Given the description of an element on the screen output the (x, y) to click on. 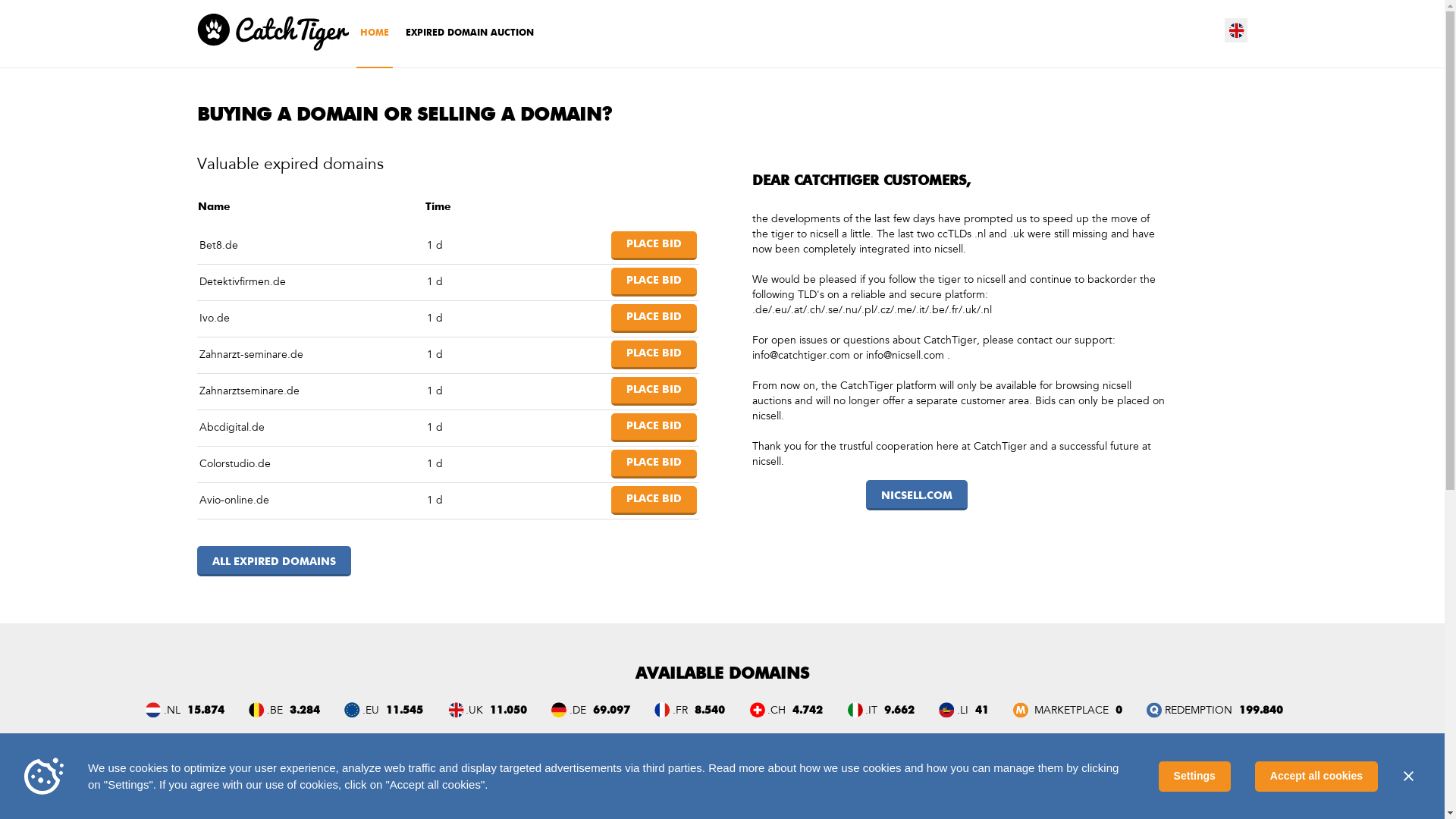
domeinwinkel Element type: hover (984, 808)
PLACE BID Element type: text (653, 464)
PLACE BID Element type: text (653, 355)
REDEMPTION 199.840 Element type: text (1212, 707)
Zahnarztseminare.de Element type: text (249, 390)
Bet8.de Element type: text (218, 244)
Abcdigital.de Element type: text (231, 426)
.NL 15.874 Element type: text (182, 707)
EN Element type: text (1236, 29)
PLACE BID Element type: text (653, 500)
.CH 4.742 Element type: text (784, 707)
EXPIRED DOMAIN AUCTION Element type: text (469, 33)
ALL EXPIRED DOMAINS Element type: text (274, 561)
.BE 3.284 Element type: text (282, 707)
PLACE BID Element type: text (653, 282)
Ivo.de Element type: text (214, 317)
PLACE BID Element type: text (653, 318)
Settings Element type: text (1194, 776)
Detektivfirmen.de Element type: text (242, 281)
domaining Element type: hover (879, 809)
Accept all cookies Element type: text (1316, 776)
.FR 8.540 Element type: text (688, 707)
PLACE BID Element type: text (653, 245)
.DE 69.097 Element type: text (589, 707)
.LI 41 Element type: text (961, 707)
Avio-online.de Element type: text (234, 499)
PLACE BID Element type: text (653, 391)
.UK 11.050 Element type: text (485, 707)
.EU 11.545 Element type: text (381, 707)
MARKETPLACE 0 Element type: text (1065, 707)
Zahnarzt-seminare.de Element type: text (251, 354)
Colorstudio.de Element type: text (234, 463)
PLACE BID Element type: text (653, 427)
NICSELL.COM Element type: text (916, 495)
HOME Element type: text (374, 34)
.IT 9.662 Element type: text (879, 707)
